Given the description of an element on the screen output the (x, y) to click on. 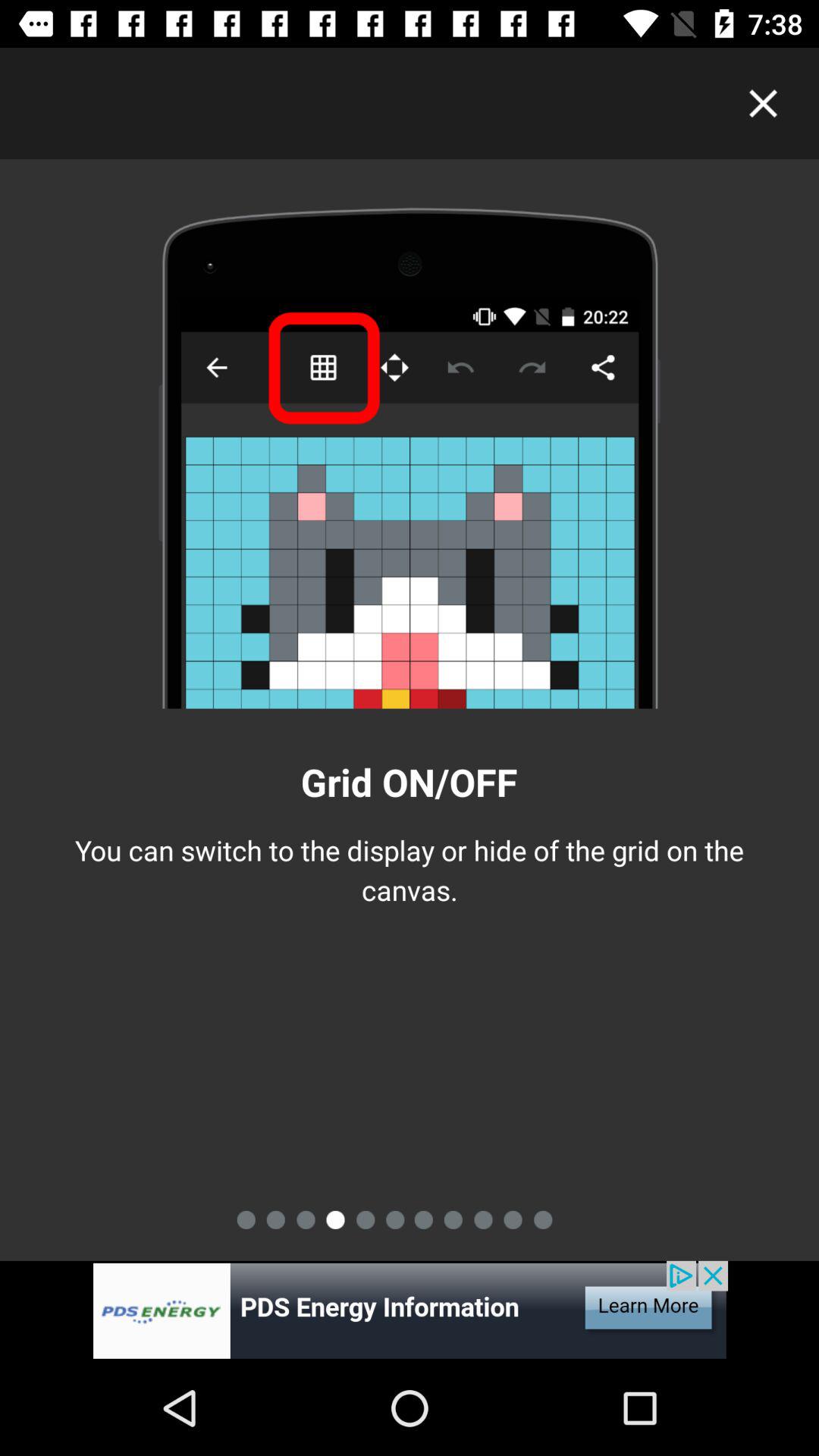
close app (763, 103)
